Given the description of an element on the screen output the (x, y) to click on. 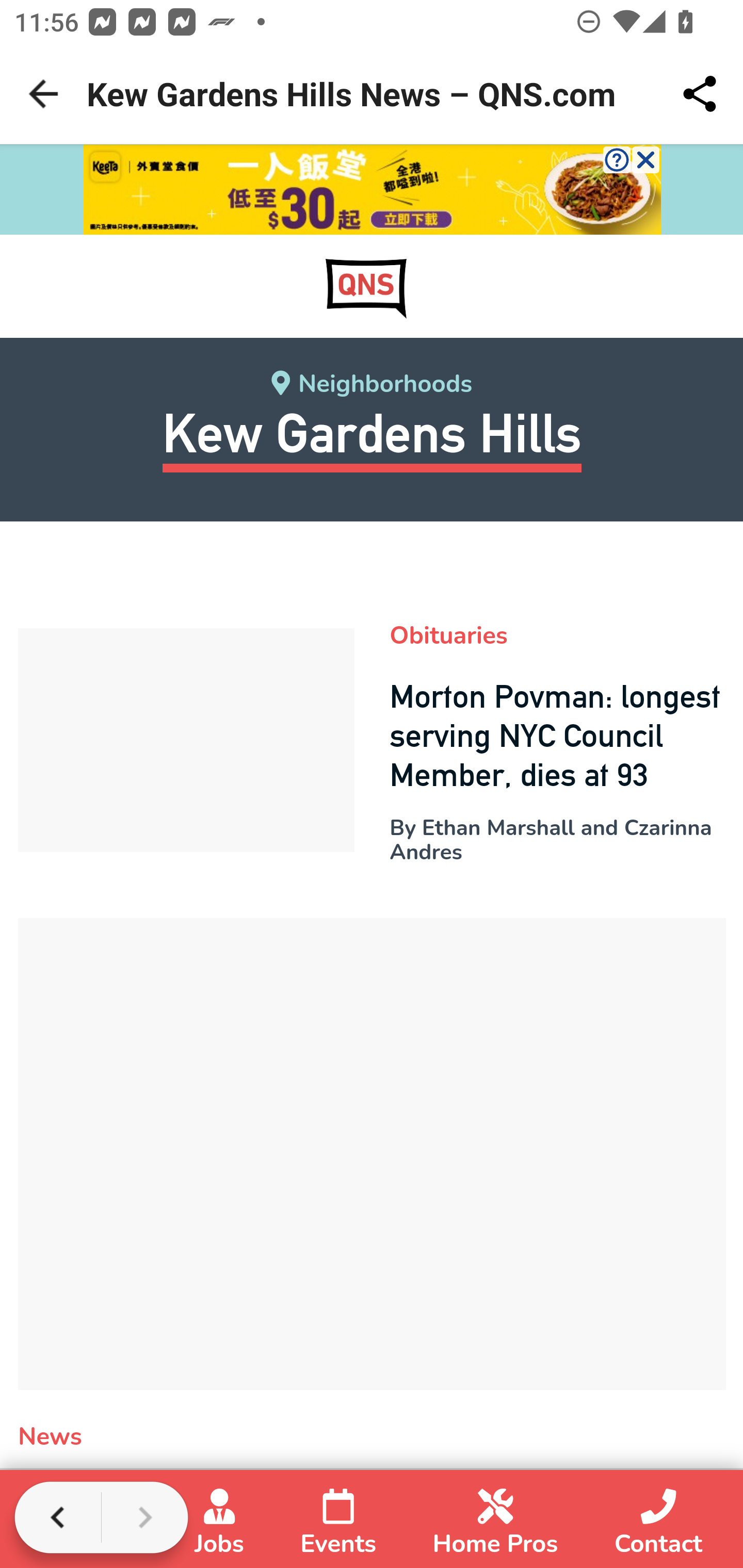
X7jla9k_1698402636612_0 (372, 190)
QNS.com: Queens News and Community (366, 286)
Neighborhoods  Neighborhoods (372, 384)
Obituaries (447, 635)
News (50, 1437)
 Jobs  Jobs (219, 1526)
 Events  Events (338, 1526)
 Home Pros  Home Pros (495, 1526)
 Contact  Contact (658, 1526)
